Given the description of an element on the screen output the (x, y) to click on. 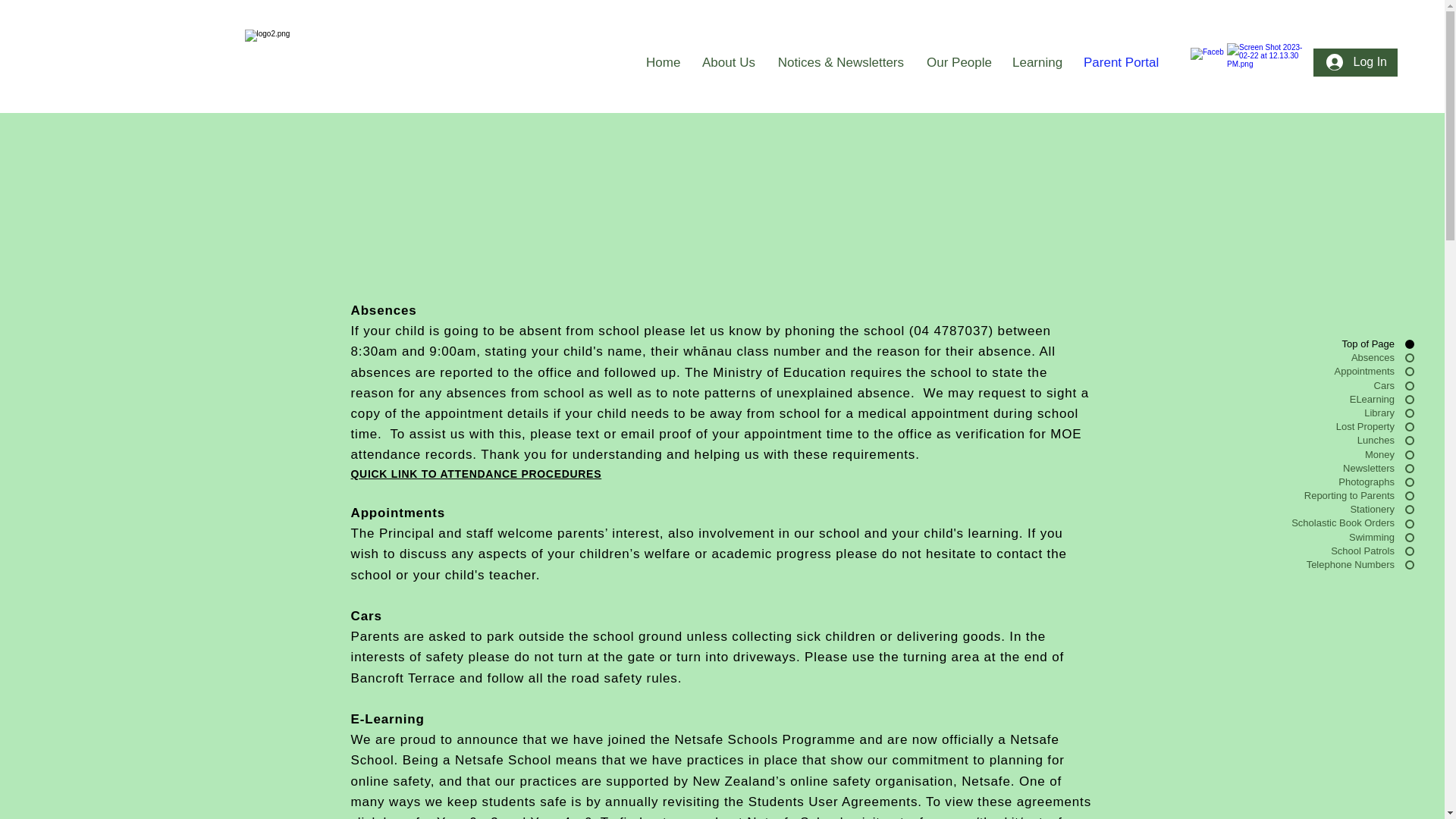
Home (662, 62)
Our People (958, 62)
About Us (727, 62)
Newsletters (1275, 468)
Cars (1275, 386)
Appointments (1275, 371)
ELearning (1275, 399)
Top of Page (1275, 344)
Learning (1036, 62)
Lost Property (1275, 427)
